Given the description of an element on the screen output the (x, y) to click on. 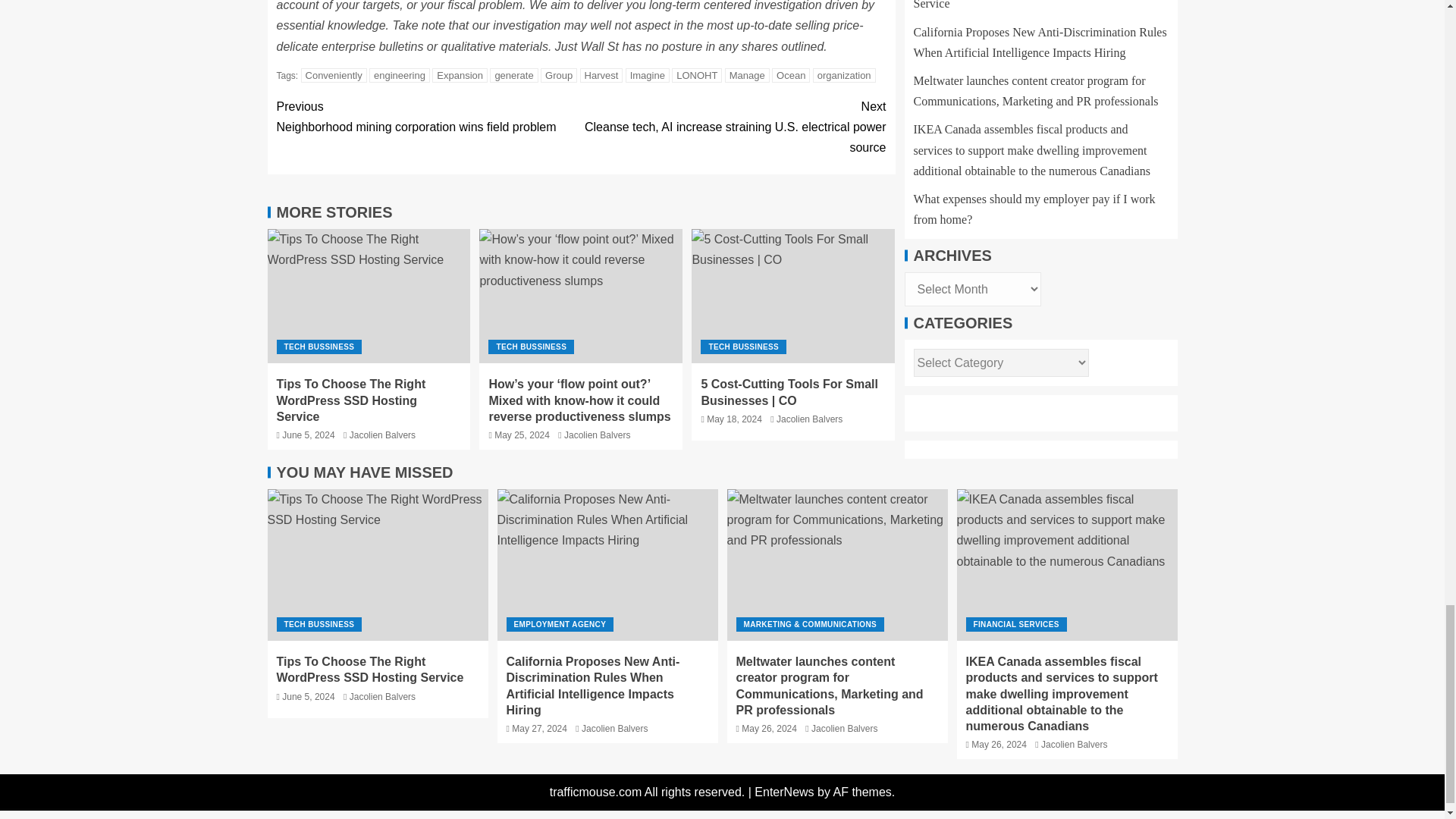
engineering (399, 74)
Expansion (459, 74)
Conveniently (333, 74)
Tips To Choose The Right WordPress SSD Hosting Service (376, 564)
generate (513, 74)
Tips To Choose The Right WordPress SSD Hosting Service (368, 296)
